Given the description of an element on the screen output the (x, y) to click on. 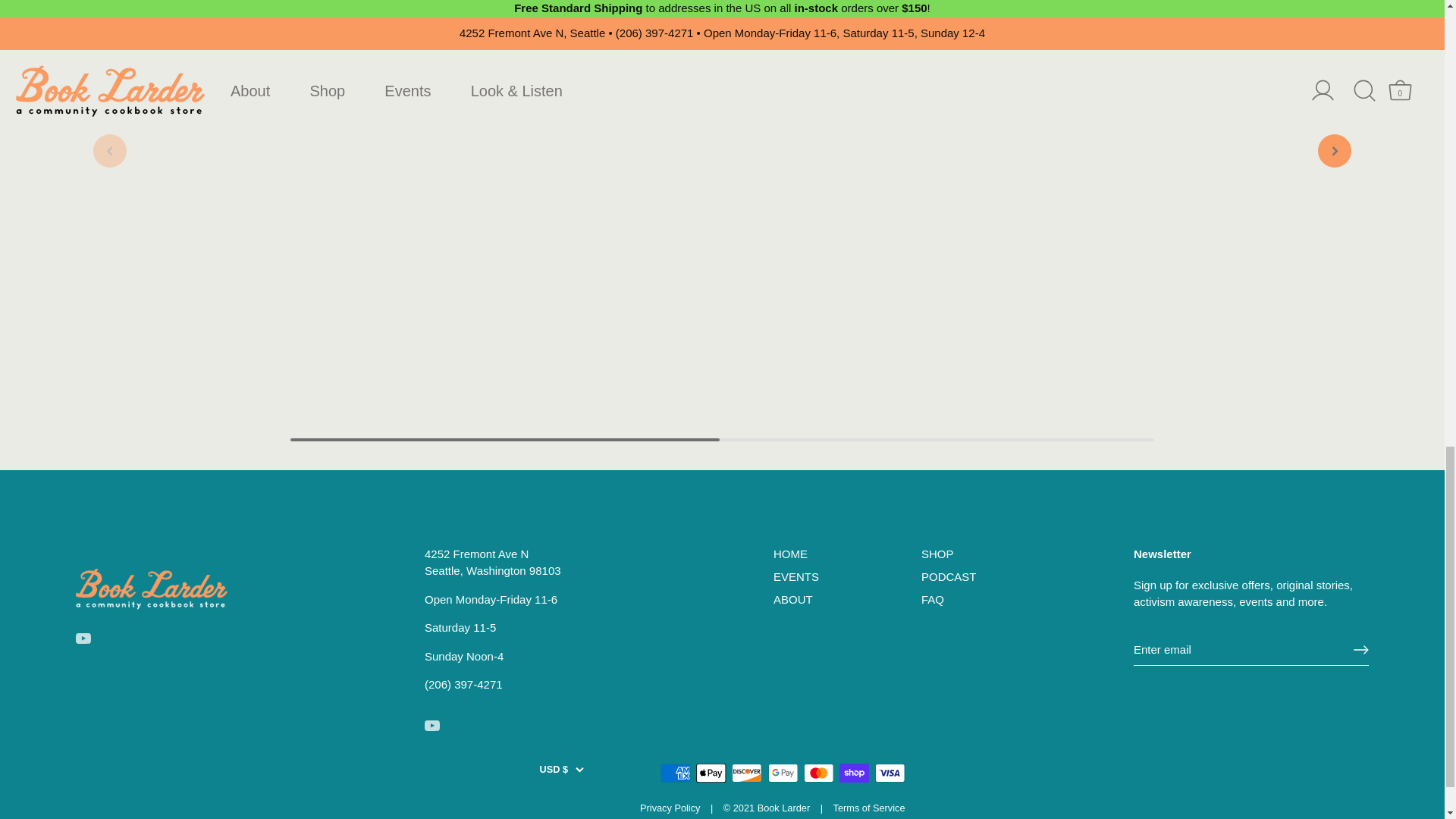
RIGHT ARROW LONG (1361, 649)
Discover (746, 772)
Shop Pay (854, 772)
Google Pay (782, 772)
Youtube (432, 725)
American Express (675, 772)
Apple Pay (710, 772)
Youtube (82, 638)
Visa (890, 772)
Mastercard (818, 772)
